Given the description of an element on the screen output the (x, y) to click on. 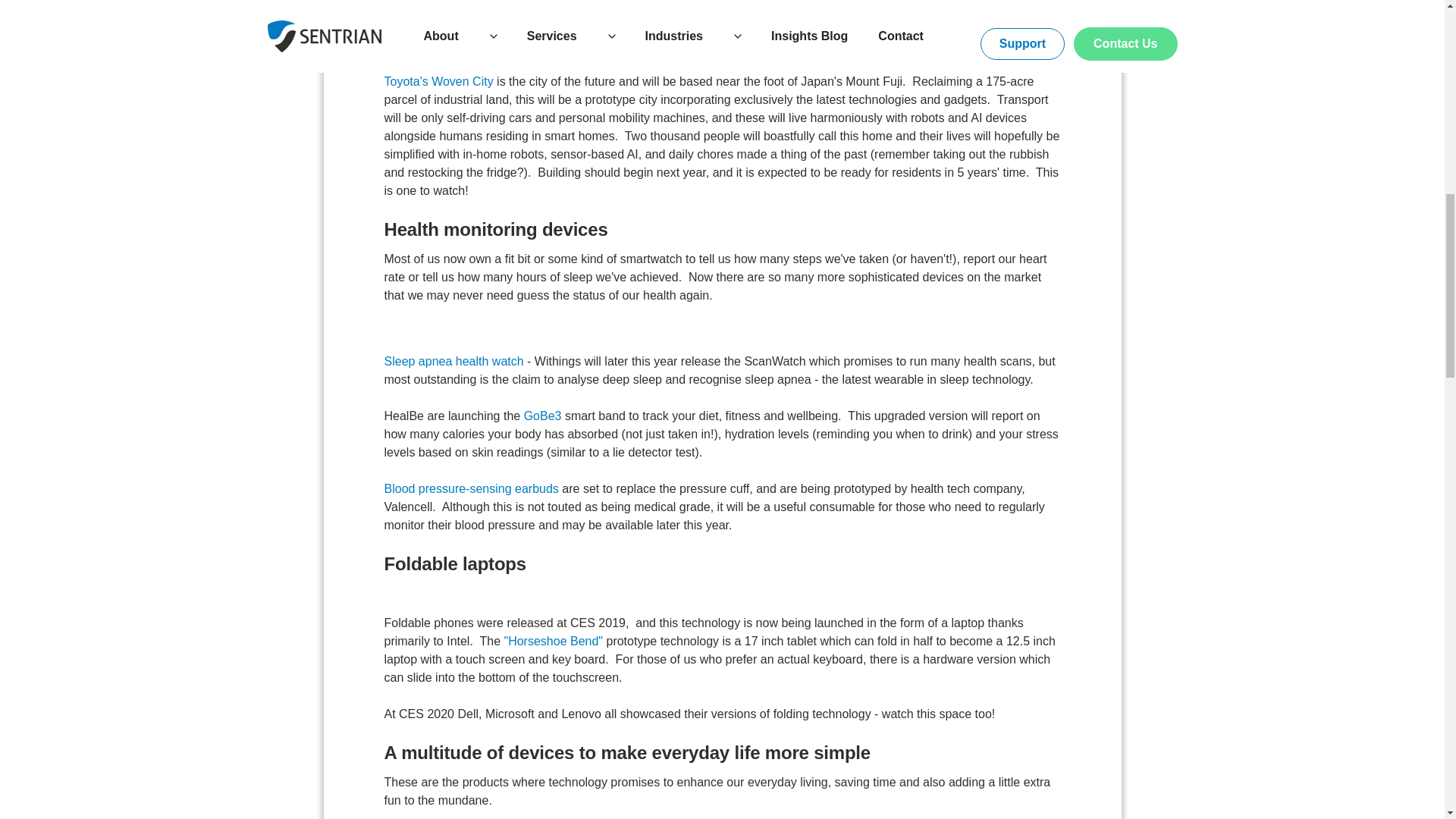
Sleep apnea health watch (453, 360)
GoBe3 (543, 415)
Toyota's Woven City (438, 81)
Blood pressure-sensing earbuds (470, 488)
"Horseshoe Bend" (552, 640)
